Given the description of an element on the screen output the (x, y) to click on. 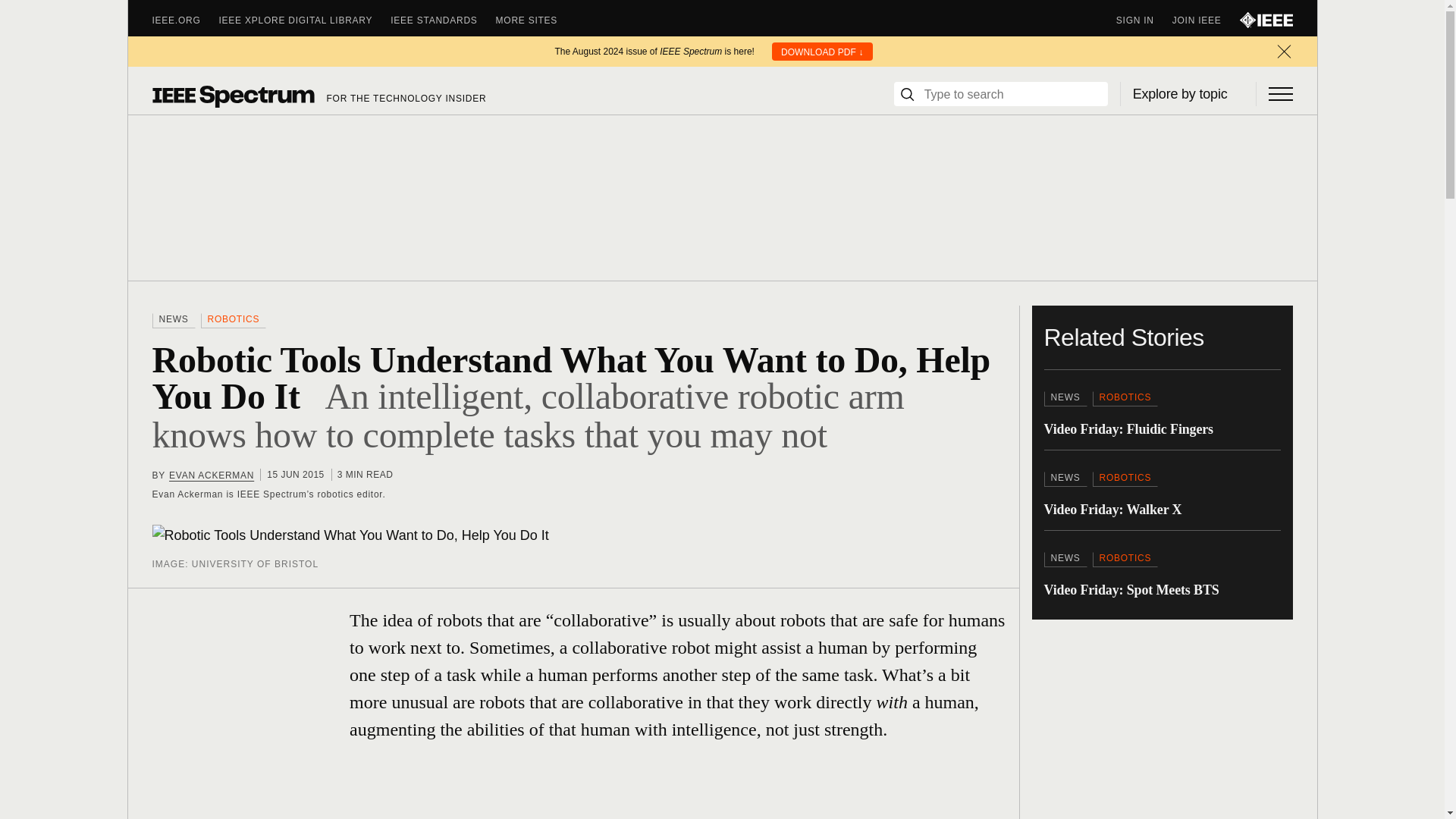
MORE SITES (536, 20)
IEEE STANDARDS (442, 20)
Search (907, 93)
Spectrum Logo (232, 95)
SIGN IN (1144, 20)
JOIN IEEE (1206, 20)
IEEE.ORG (184, 20)
IEEE XPLORE DIGITAL LIBRARY (305, 20)
Close bar (1283, 51)
